Given the description of an element on the screen output the (x, y) to click on. 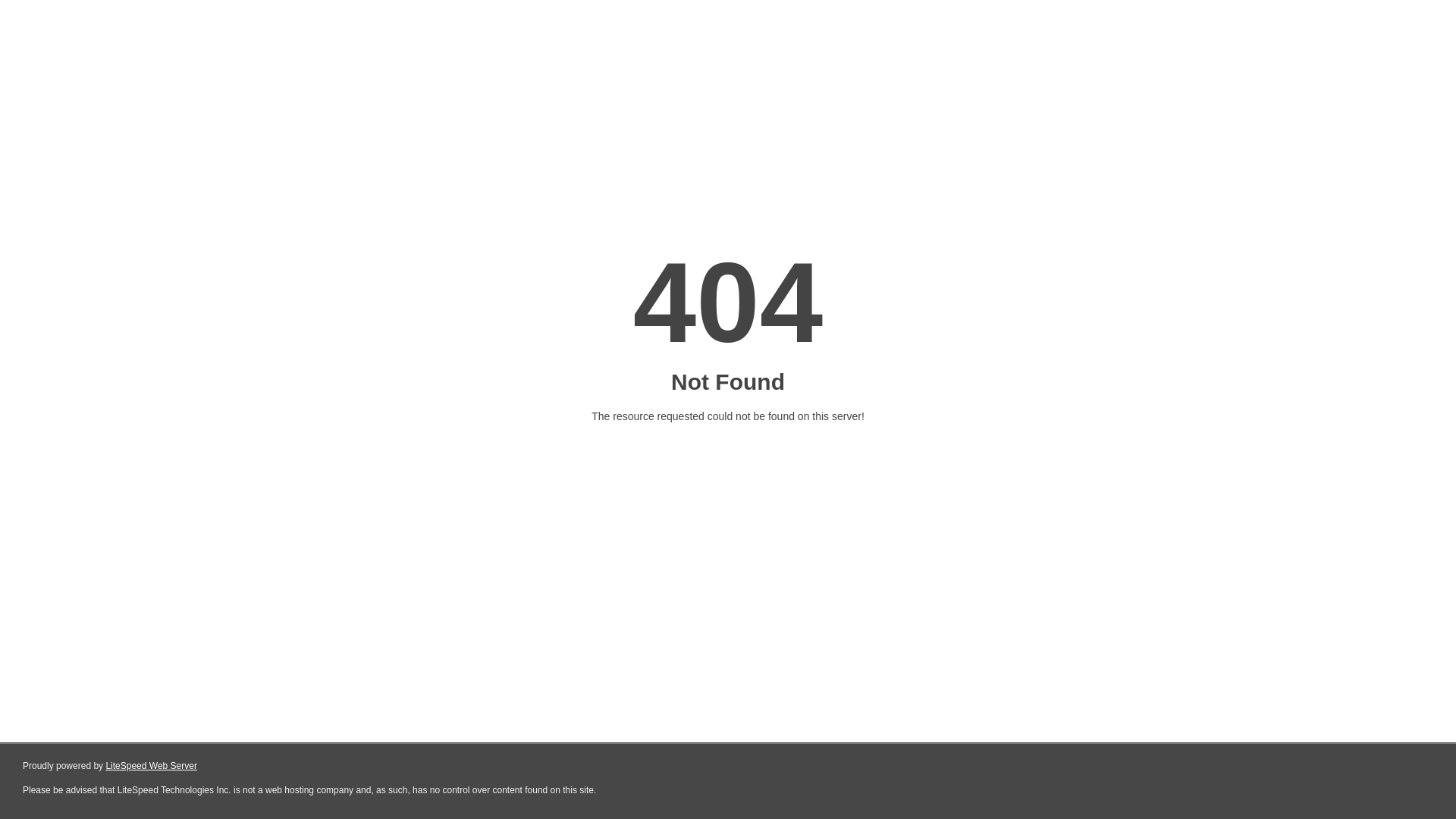
LiteSpeed Web Server Element type: text (151, 765)
